Given the description of an element on the screen output the (x, y) to click on. 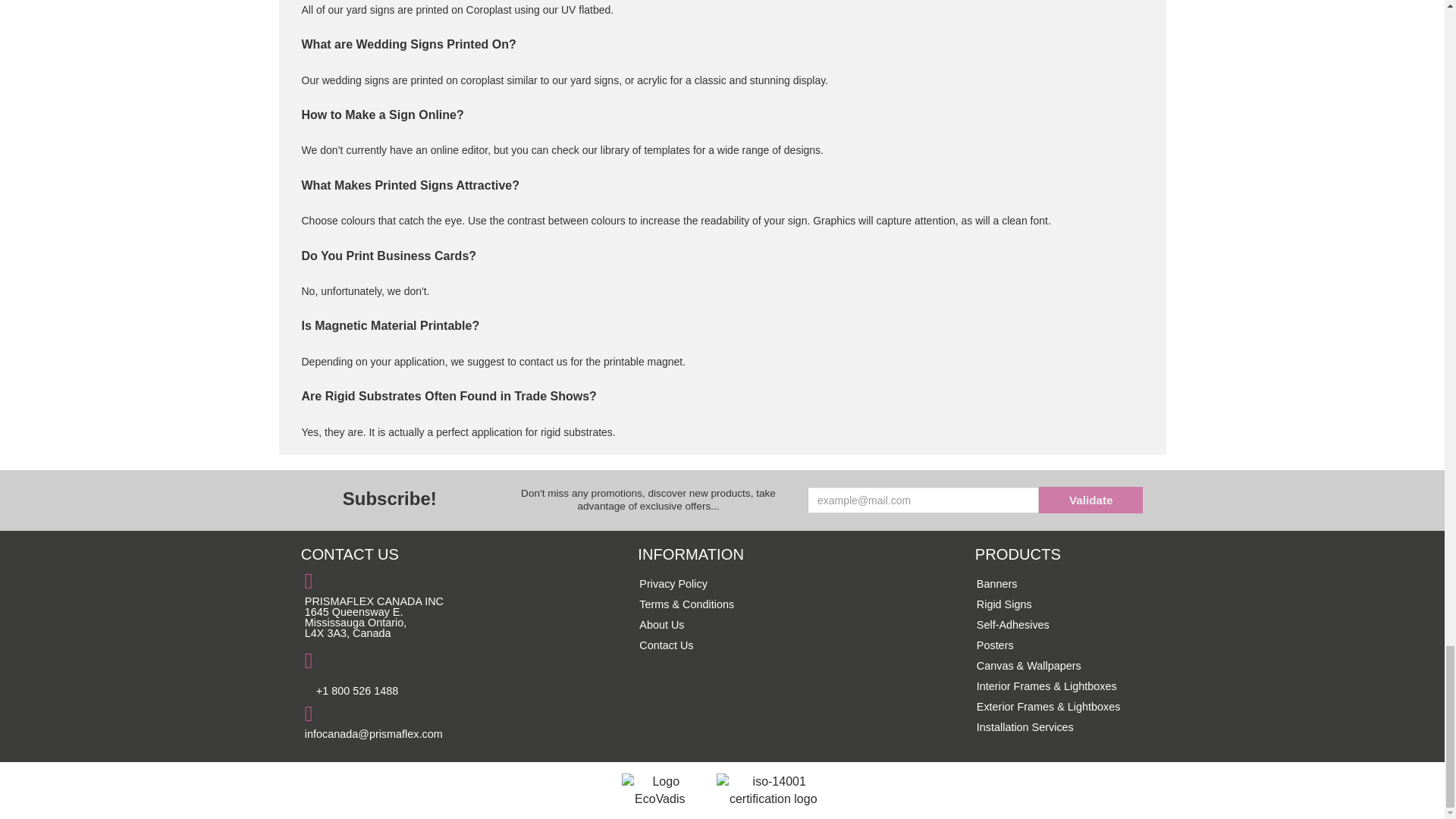
About Us (661, 624)
Privacy Policy (673, 583)
Validate (1090, 499)
